Given the description of an element on the screen output the (x, y) to click on. 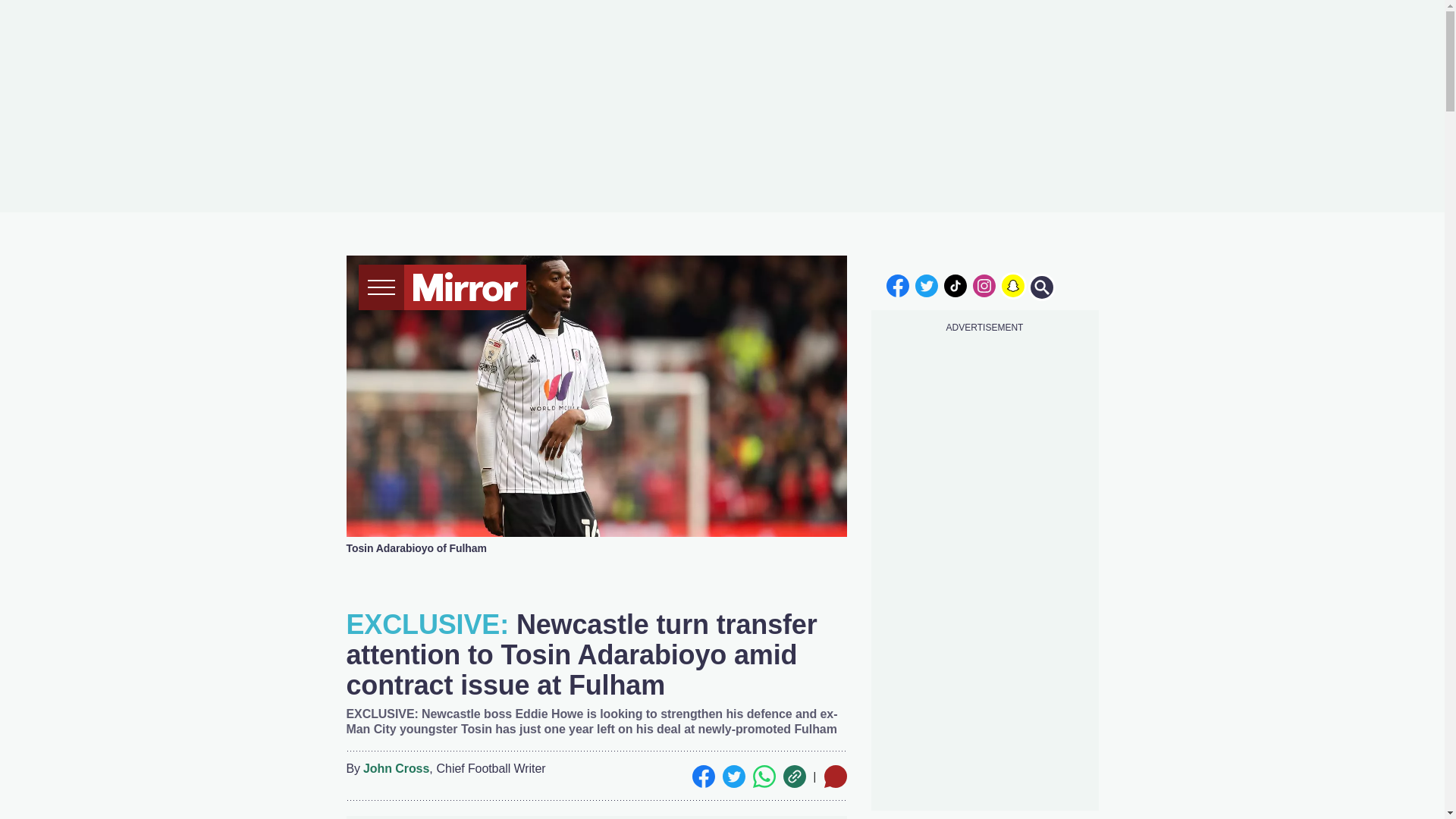
facebook (897, 285)
John Cross (395, 769)
instagram (984, 285)
Twitter (733, 775)
Whatsapp (763, 775)
snapchat (1012, 285)
Comments (834, 775)
tiktok (955, 285)
Facebook (702, 775)
twitter (926, 285)
